Given the description of an element on the screen output the (x, y) to click on. 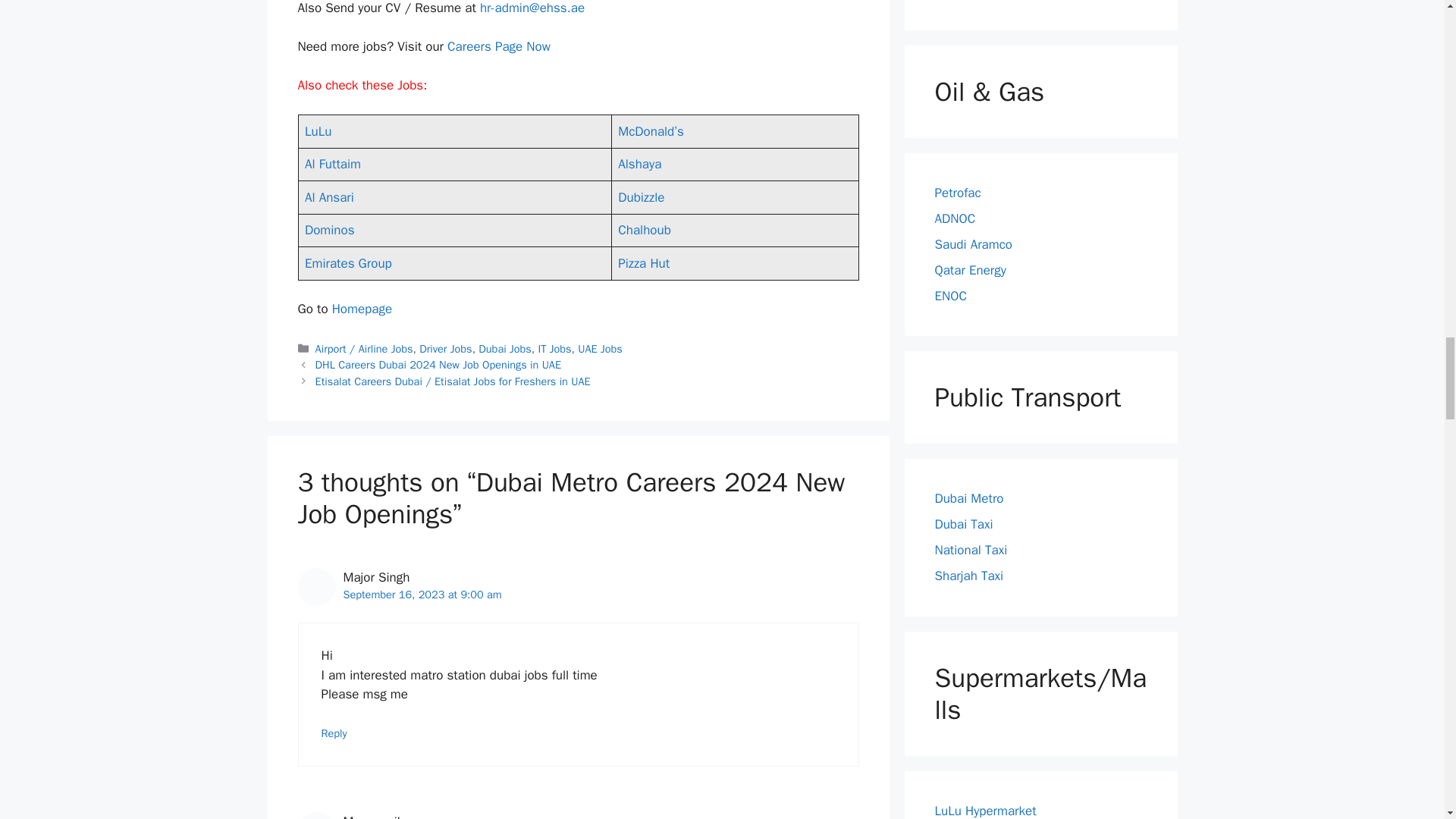
DHL Careers Dubai 2024 New Job Openings in UAE (437, 364)
IT Jobs (553, 348)
Emirates Group (347, 263)
Careers Page Now (498, 46)
Driver Jobs (445, 348)
Al Ansari (328, 197)
September 16, 2023 at 9:00 am (421, 594)
Dubai Jobs (505, 348)
Homepage (361, 308)
Reply (334, 733)
